Given the description of an element on the screen output the (x, y) to click on. 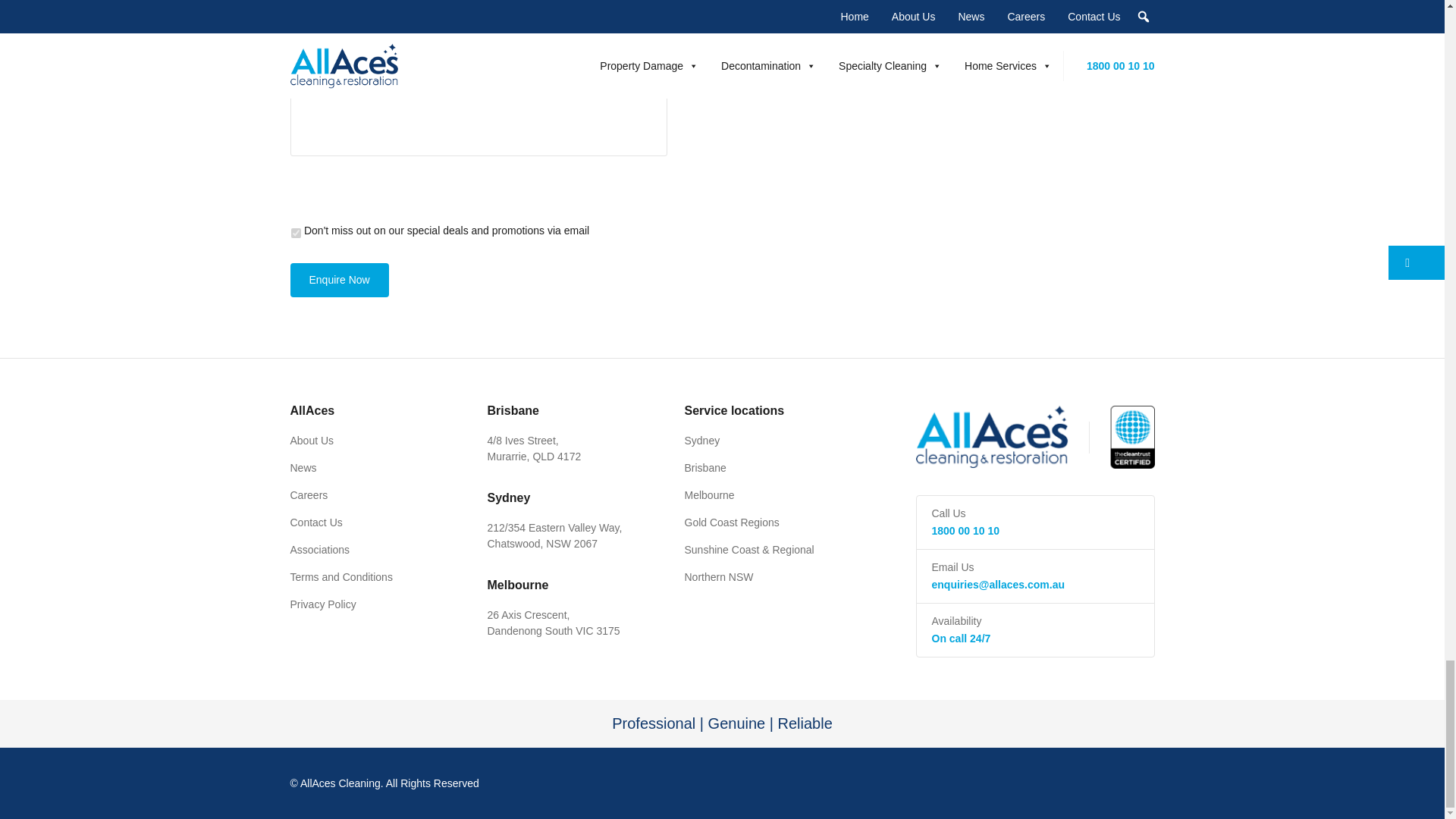
Enquire Now (338, 279)
Don't miss out on our special deals and promotions via email (296, 233)
